Given the description of an element on the screen output the (x, y) to click on. 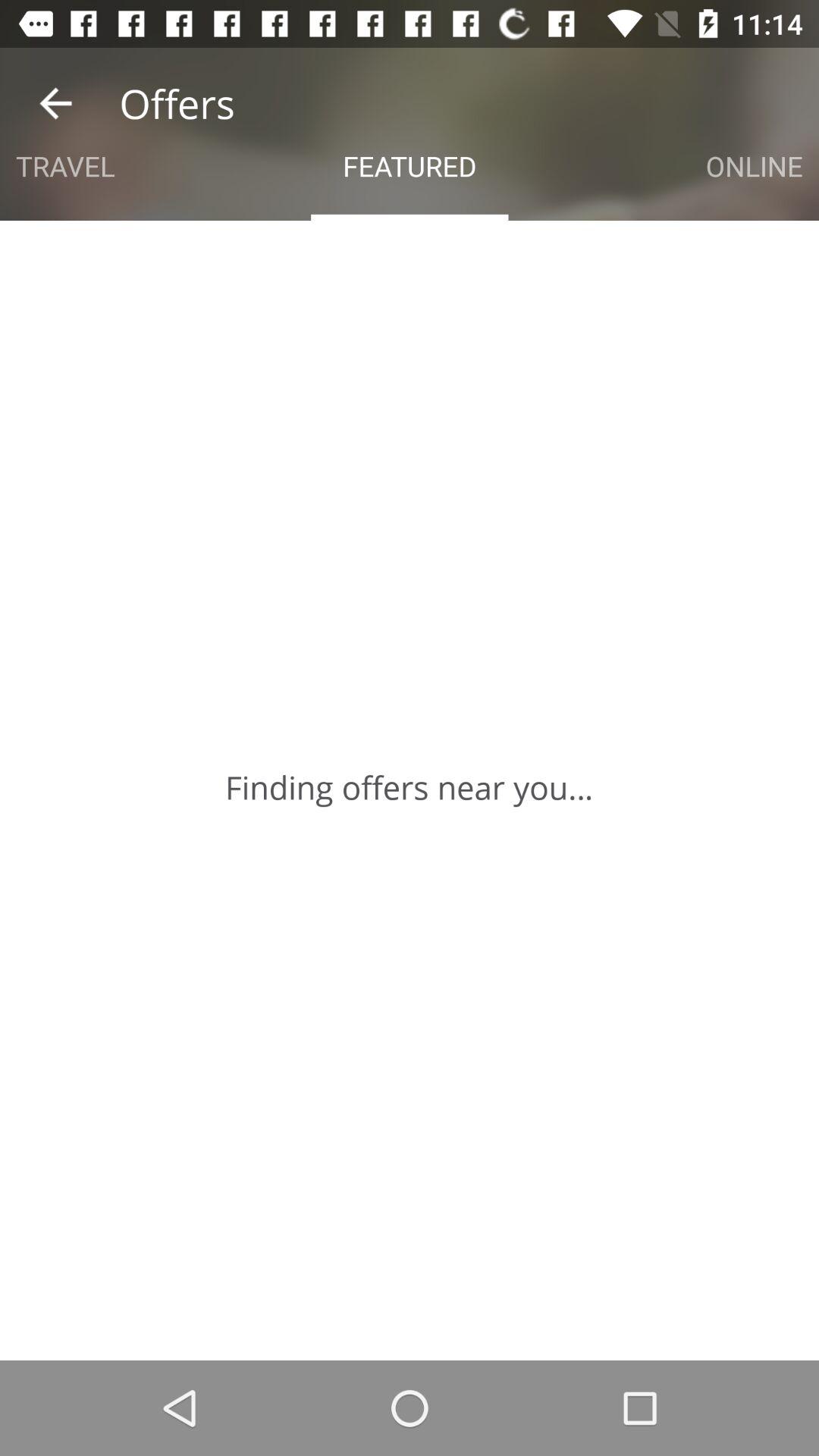
go back to previous screen (55, 103)
